Given the description of an element on the screen output the (x, y) to click on. 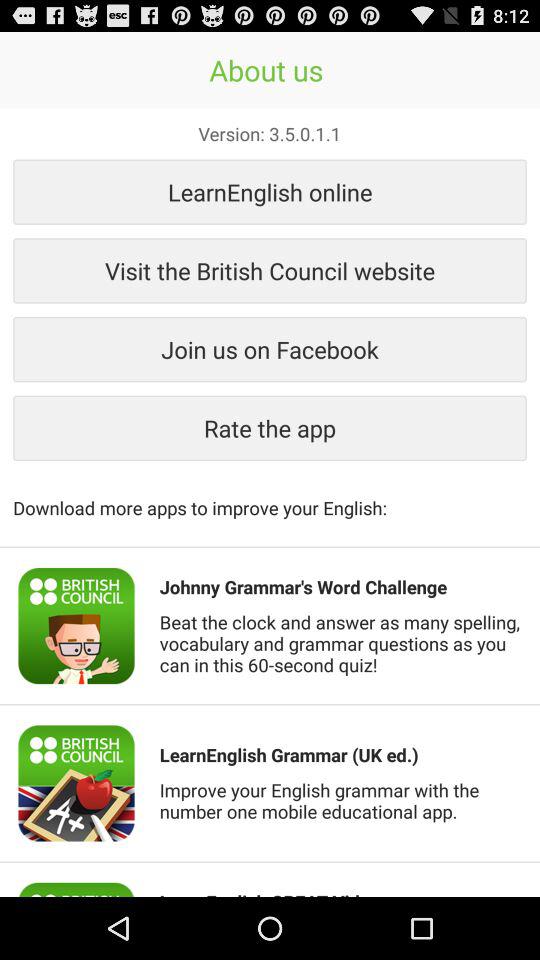
turn off icon below visit the british (269, 349)
